Given the description of an element on the screen output the (x, y) to click on. 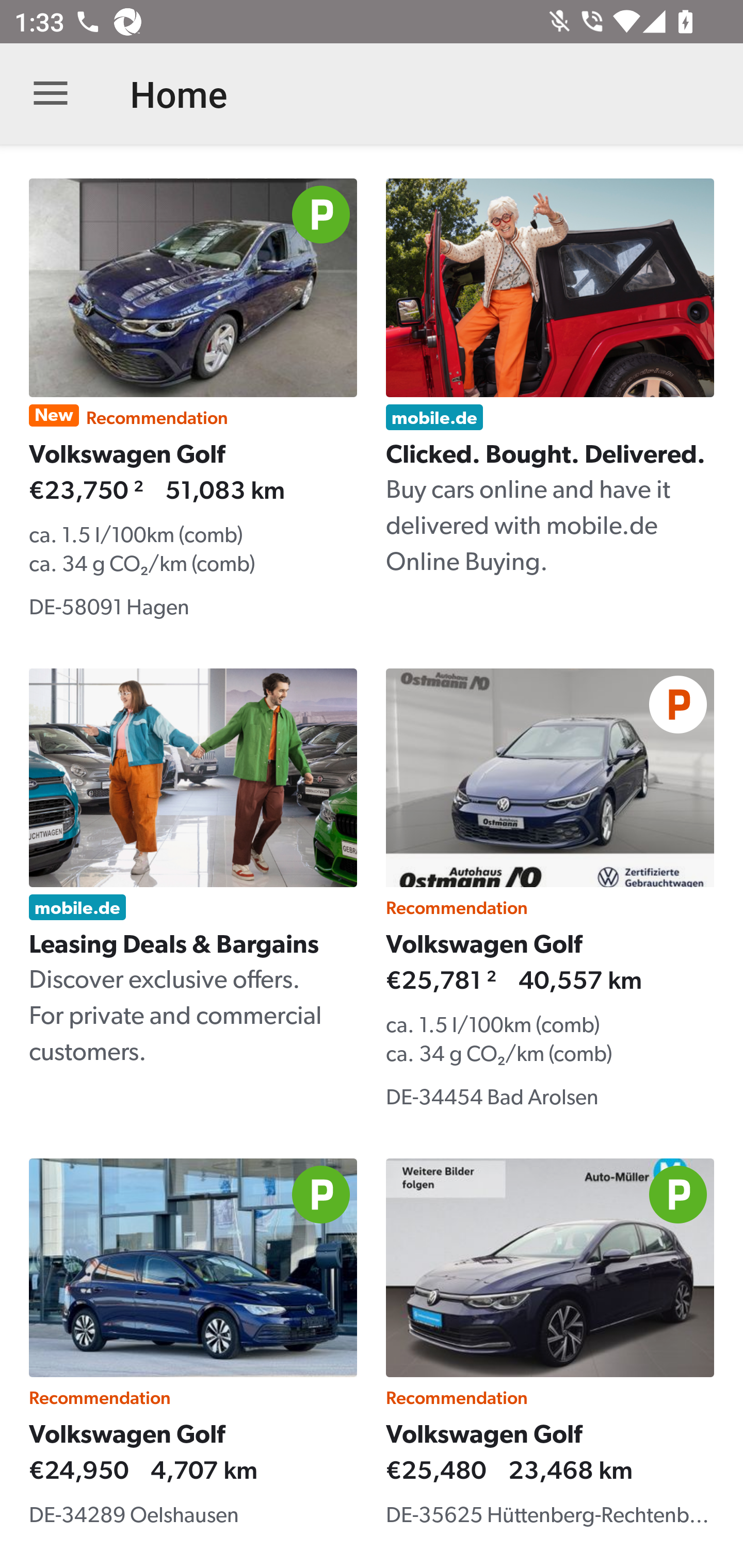
Open navigation bar (50, 93)
